Given the description of an element on the screen output the (x, y) to click on. 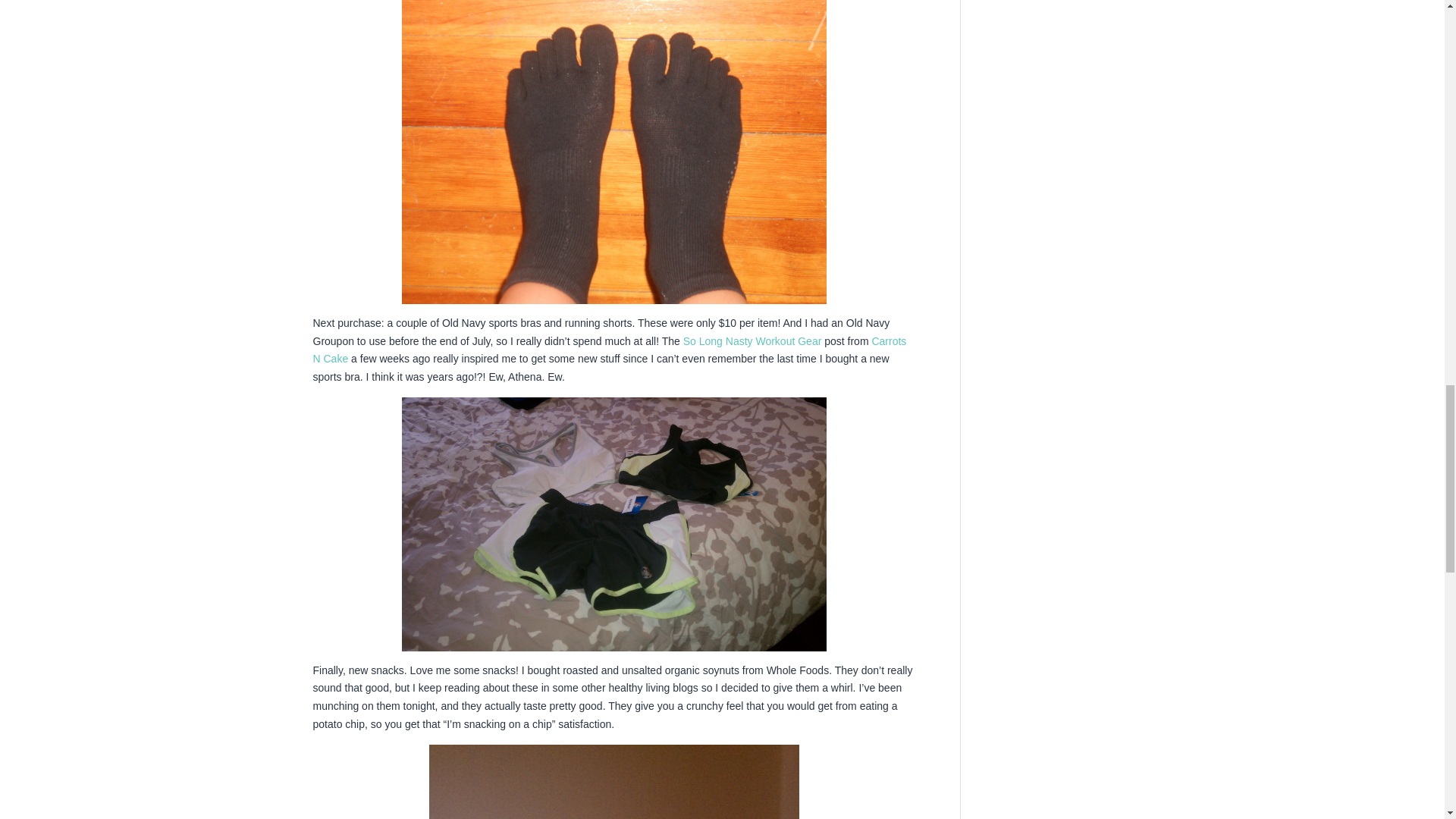
Gaiam Yoga Socks  (614, 151)
Organic Soynuts (614, 781)
Old Navy Fitness Gear (614, 524)
